Given the description of an element on the screen output the (x, y) to click on. 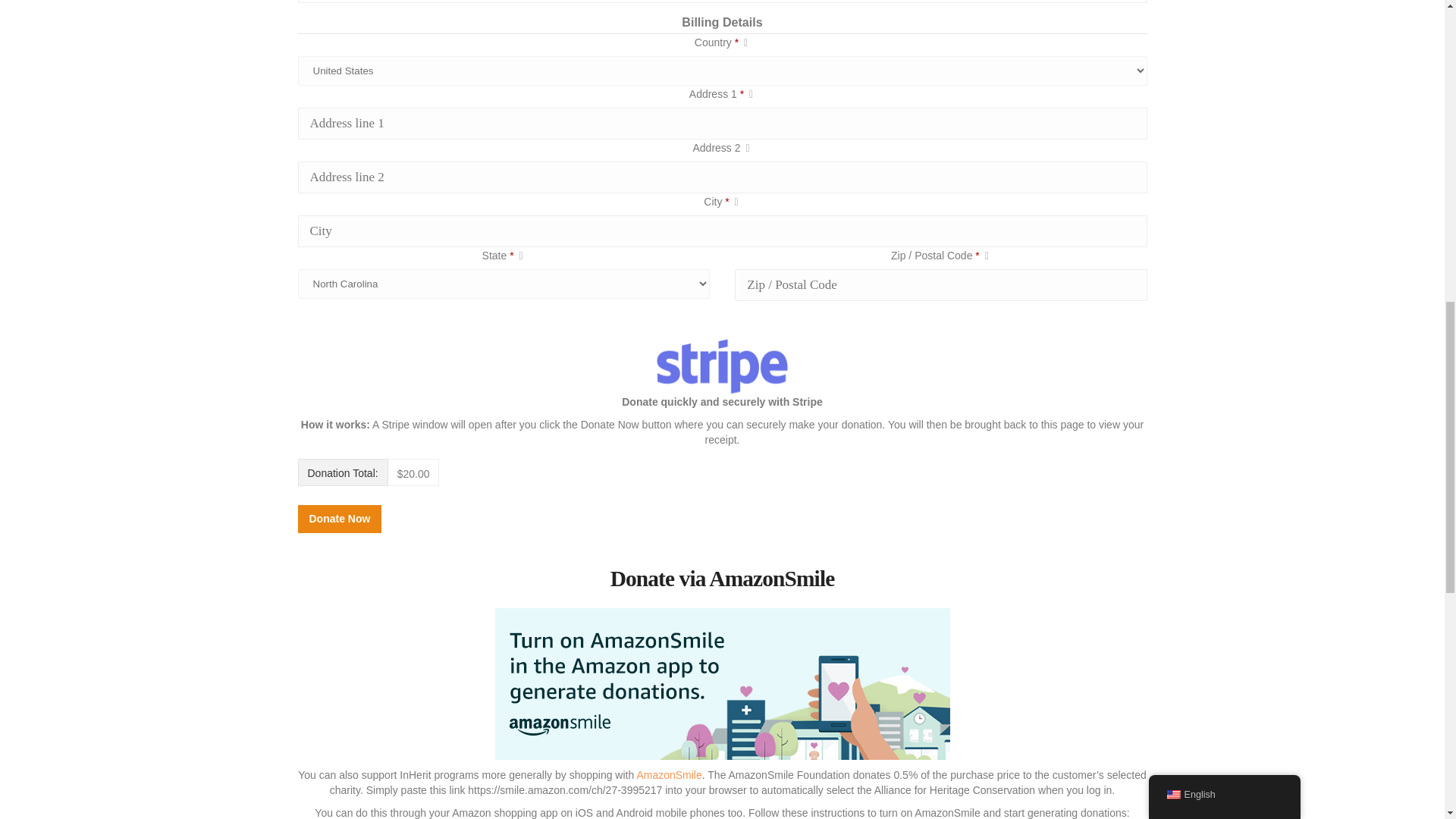
Donate Now (339, 519)
